Given the description of an element on the screen output the (x, y) to click on. 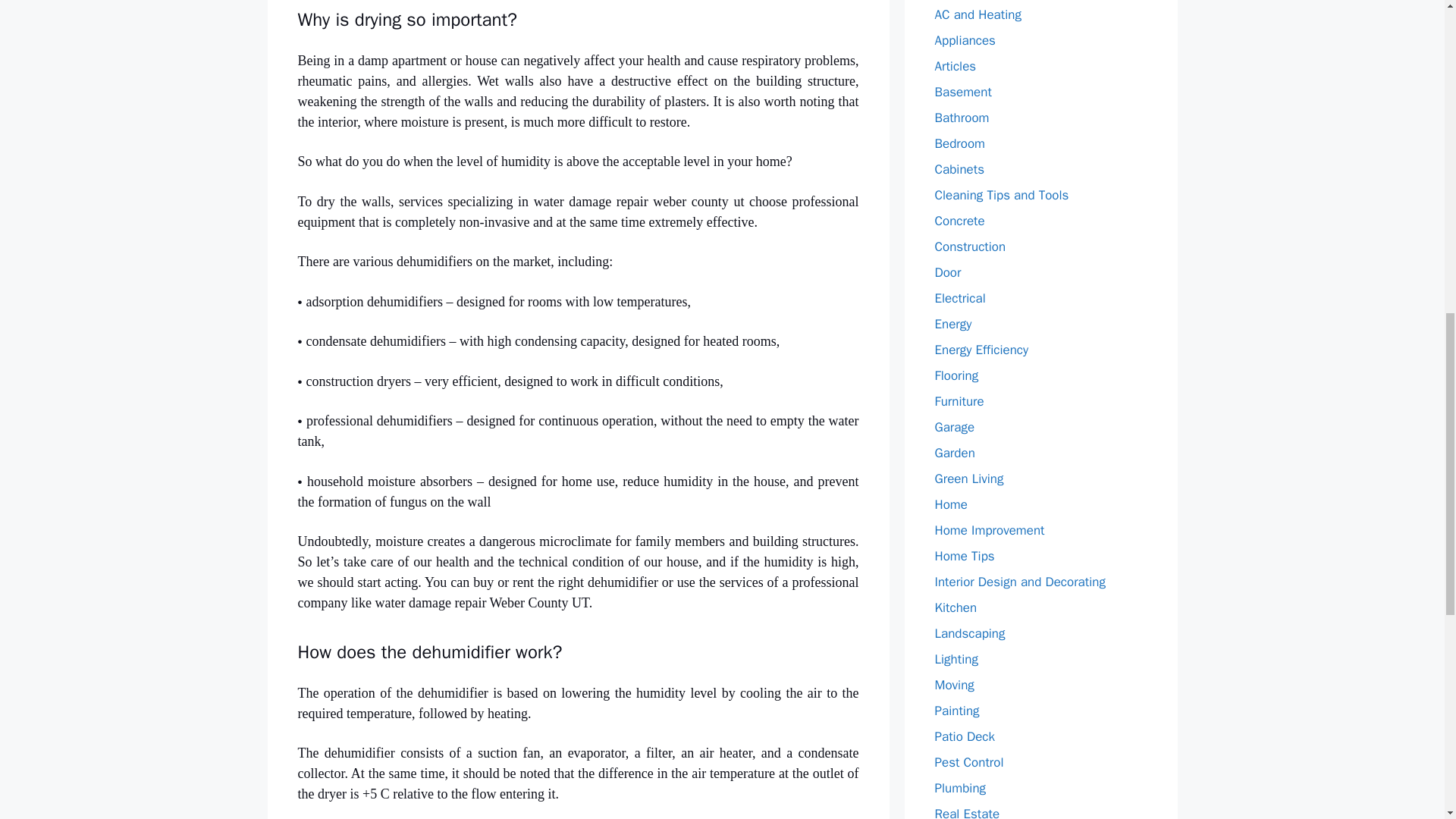
Flooring (956, 375)
Construction (970, 246)
Basement (962, 91)
Energy Efficiency (980, 349)
AC and Heating (977, 14)
Cabinets (959, 169)
Door (947, 272)
Cleaning Tips and Tools (1001, 195)
Energy (952, 324)
Electrical (959, 298)
Articles (954, 66)
Concrete (959, 220)
Bedroom (959, 143)
Appliances (964, 40)
Bathroom (961, 117)
